Given the description of an element on the screen output the (x, y) to click on. 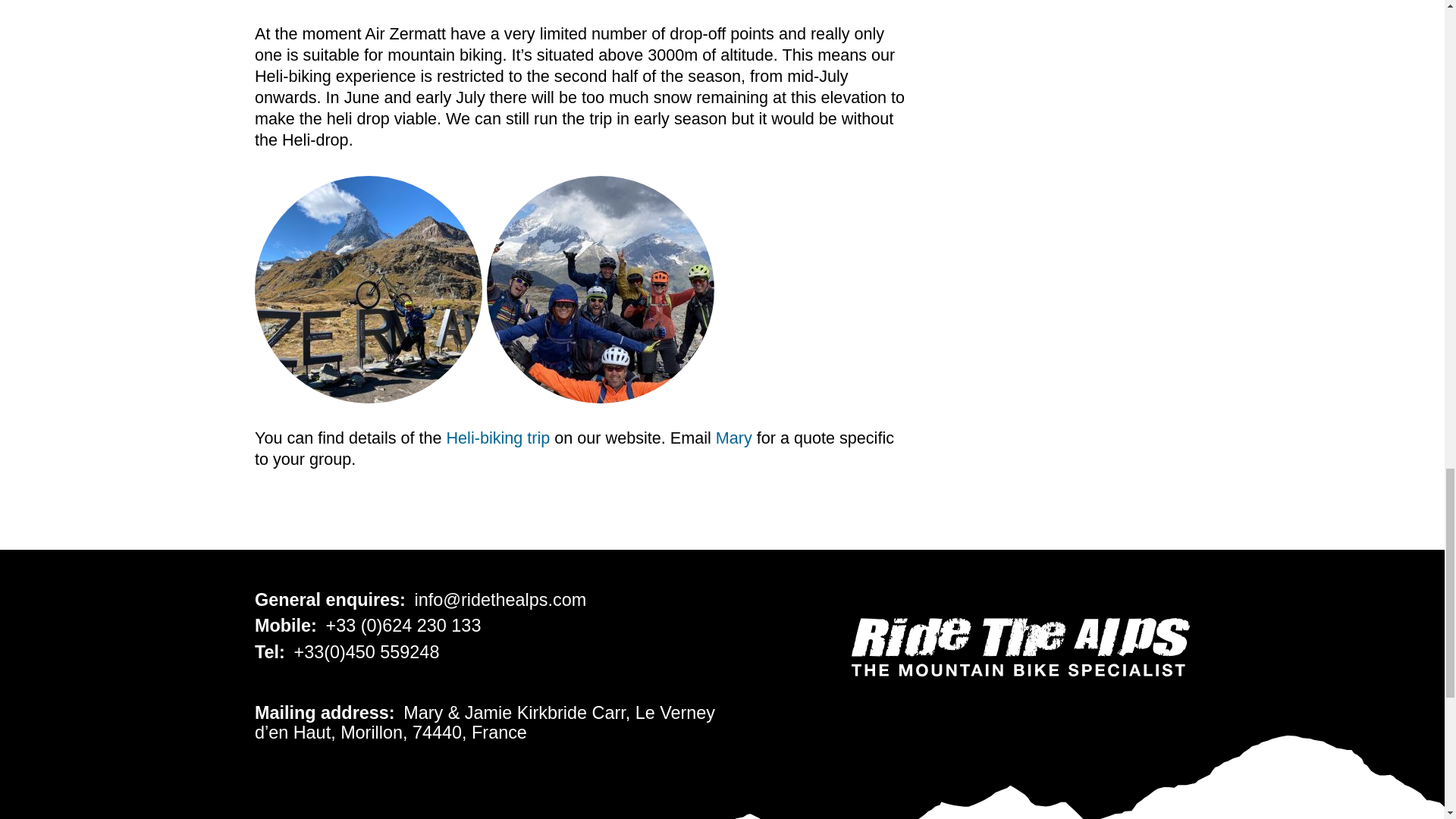
Ride The Alps (1020, 647)
Heli-biking trip (498, 437)
Mary (734, 437)
